Given the description of an element on the screen output the (x, y) to click on. 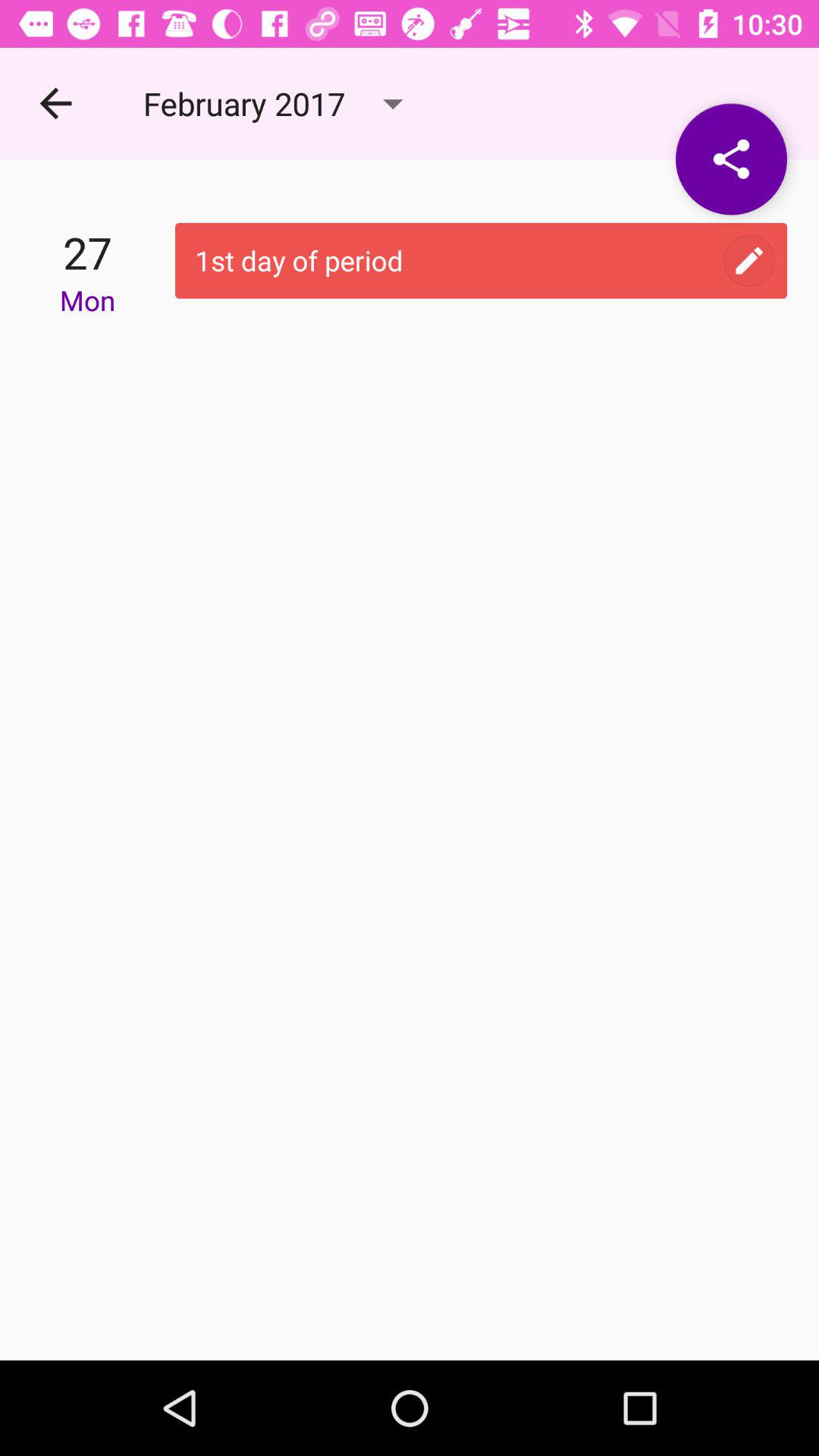
share option (731, 158)
